Given the description of an element on the screen output the (x, y) to click on. 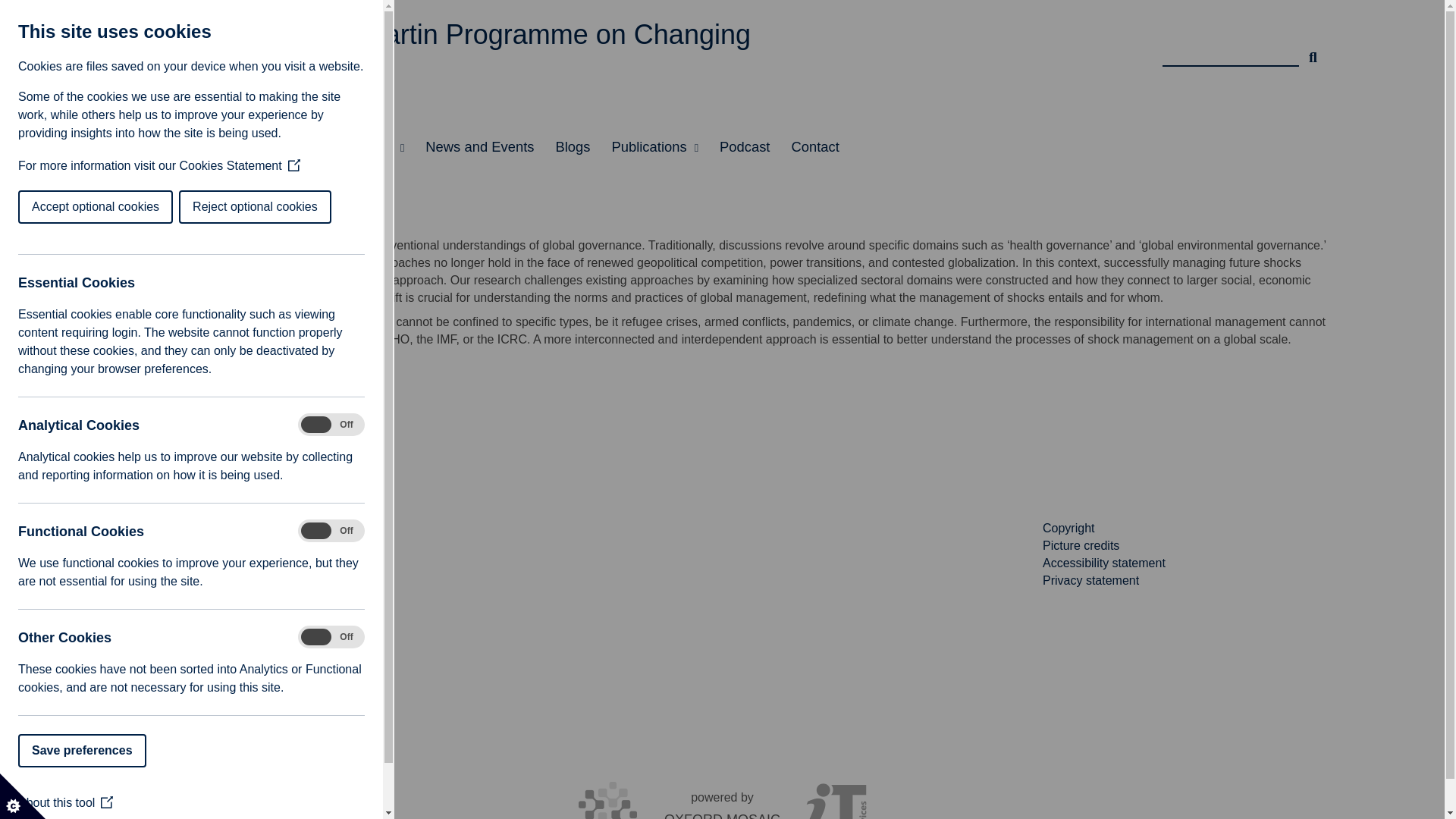
Home (144, 147)
Blogs (571, 147)
Picture credits (1080, 545)
Oms sq rgb (190, 595)
Contact (814, 147)
Podcast (744, 147)
Reject optional cookies (66, 206)
Privacy statement (1090, 579)
Research (215, 147)
Accessibility statement (1104, 562)
Search (1312, 51)
Enter the terms you wish to search for (1229, 51)
News and Events (479, 147)
Copyright (1068, 527)
